Given the description of an element on the screen output the (x, y) to click on. 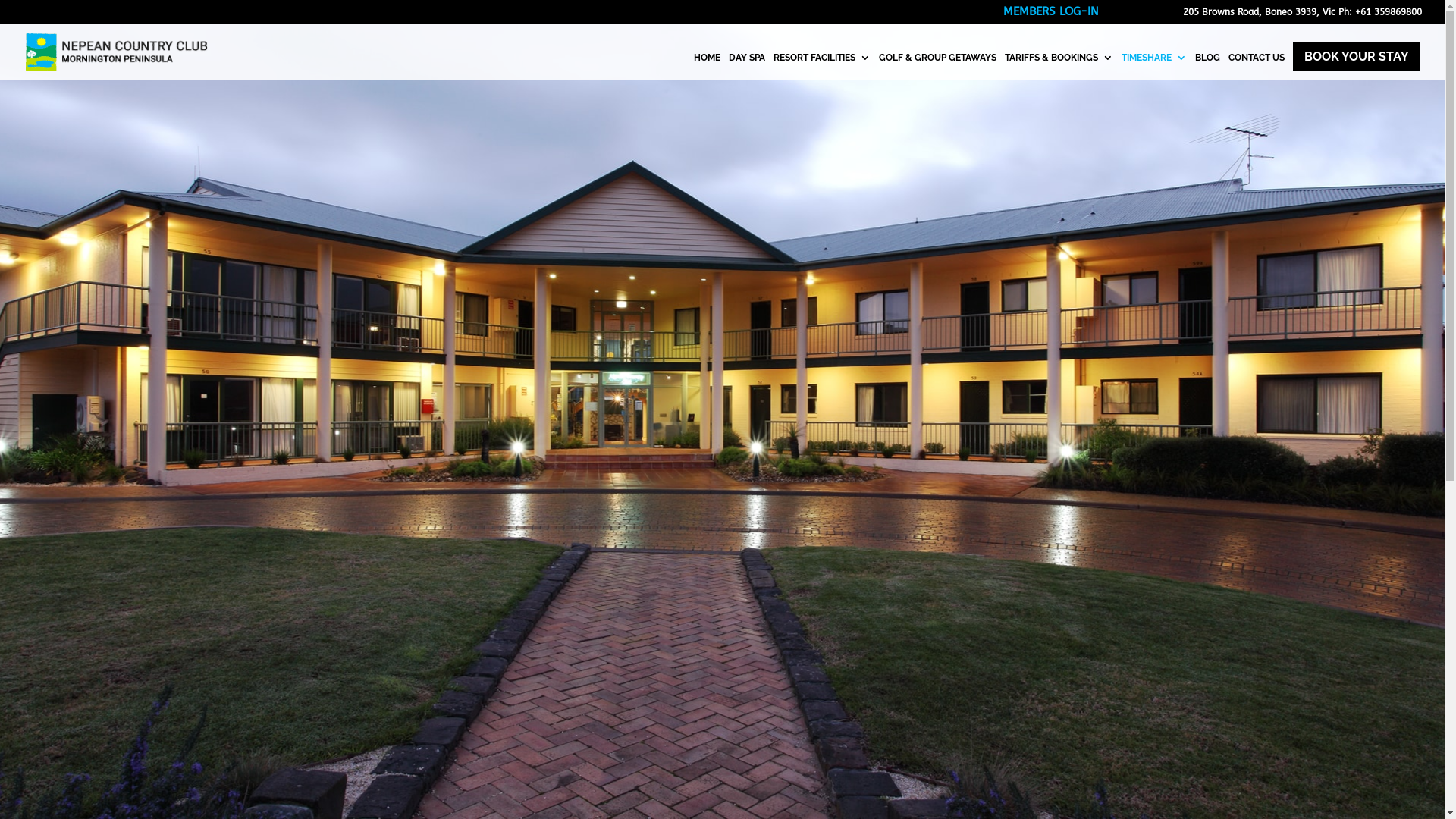
HOME Element type: text (706, 66)
TIMESHARE Element type: text (1153, 66)
205 Browns Road, Boneo 3939, Vic Ph: +61 359869800 Element type: text (1302, 15)
CONTACT US Element type: text (1256, 66)
RESORT FACILITIES Element type: text (821, 66)
MEMBERS LOG-IN Element type: text (1050, 15)
TARIFFS & BOOKINGS Element type: text (1058, 66)
DAY SPA Element type: text (746, 66)
BOOK YOUR STAY Element type: text (1356, 56)
BLOG Element type: text (1207, 66)
GOLF & GROUP GETAWAYS Element type: text (937, 66)
